Given the description of an element on the screen output the (x, y) to click on. 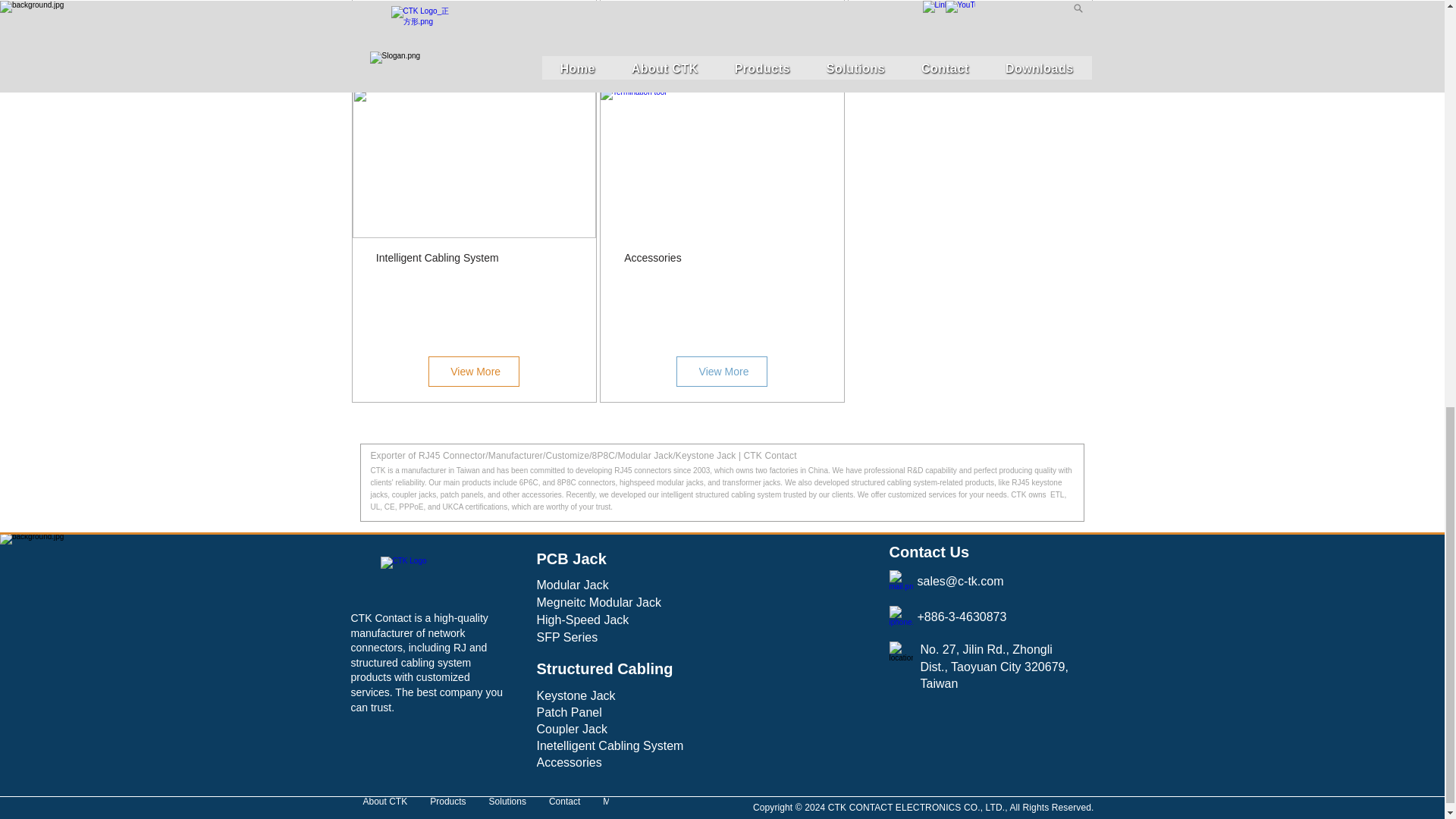
call.png (900, 617)
map.png (900, 653)
email.png (900, 581)
